Given the description of an element on the screen output the (x, y) to click on. 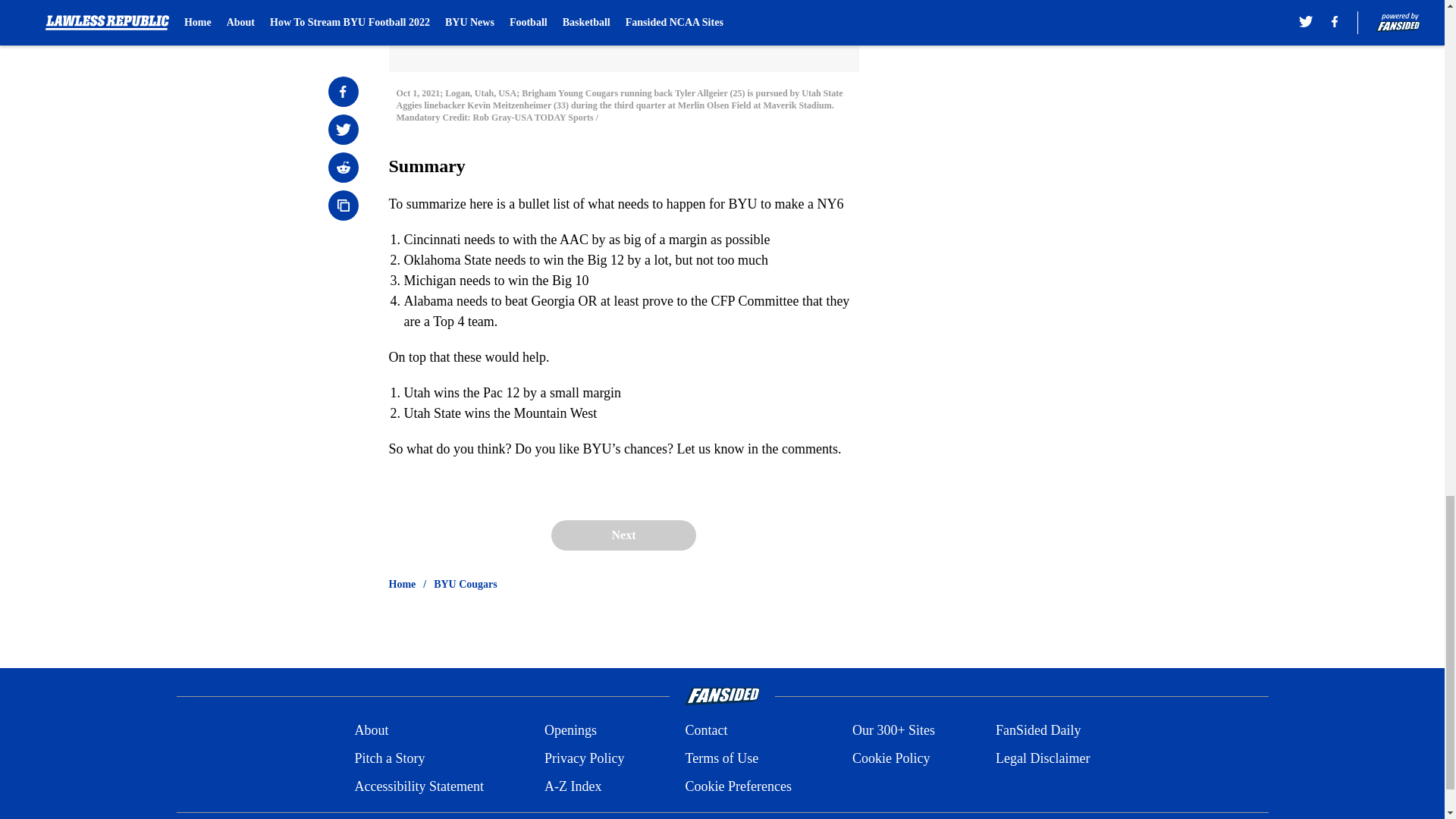
Cookie Policy (890, 758)
Openings (570, 730)
BYU Cougars (465, 584)
Next (622, 535)
Contact (705, 730)
FanSided Daily (1038, 730)
Cookie Preferences (737, 786)
Privacy Policy (584, 758)
Accessibility Statement (418, 786)
Legal Disclaimer (1042, 758)
